Given the description of an element on the screen output the (x, y) to click on. 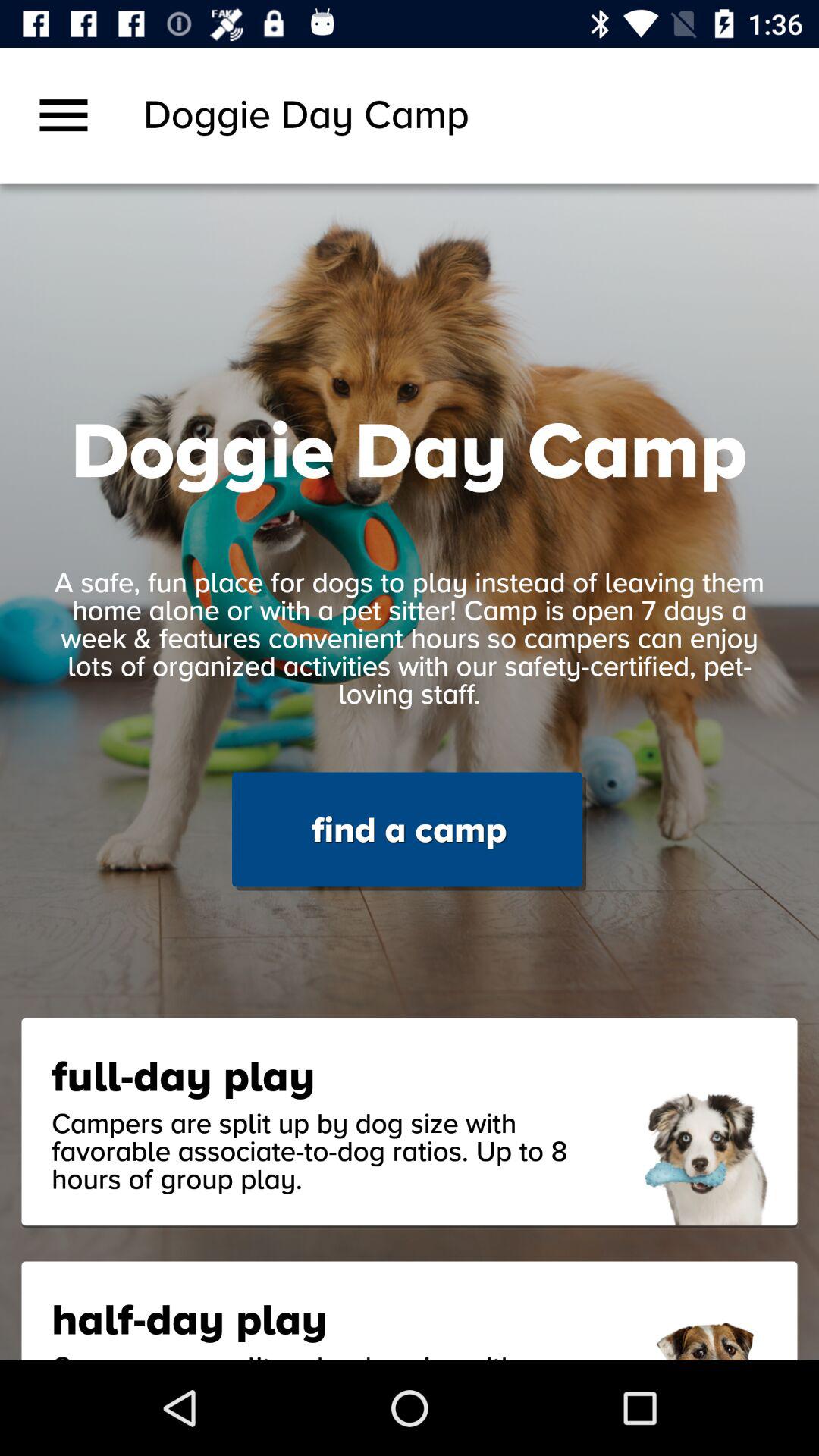
tap icon to the left of doggie day camp icon (63, 115)
